Given the description of an element on the screen output the (x, y) to click on. 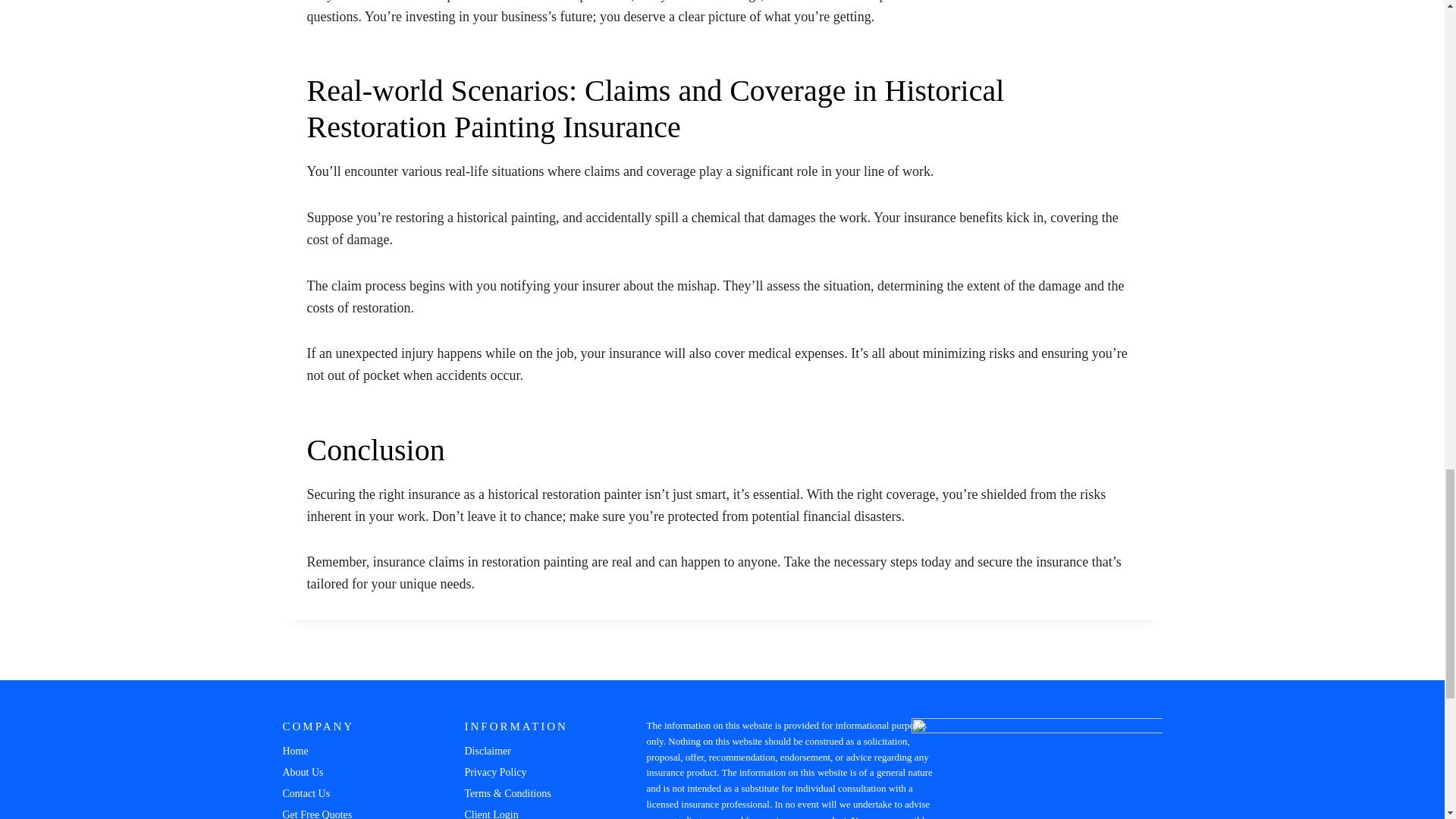
Client Login (517, 811)
Home (339, 751)
Disclaimer (517, 751)
Get Free Quotes (339, 811)
About Us (339, 772)
Contact Us (339, 793)
Privacy Policy (517, 772)
